Given the description of an element on the screen output the (x, y) to click on. 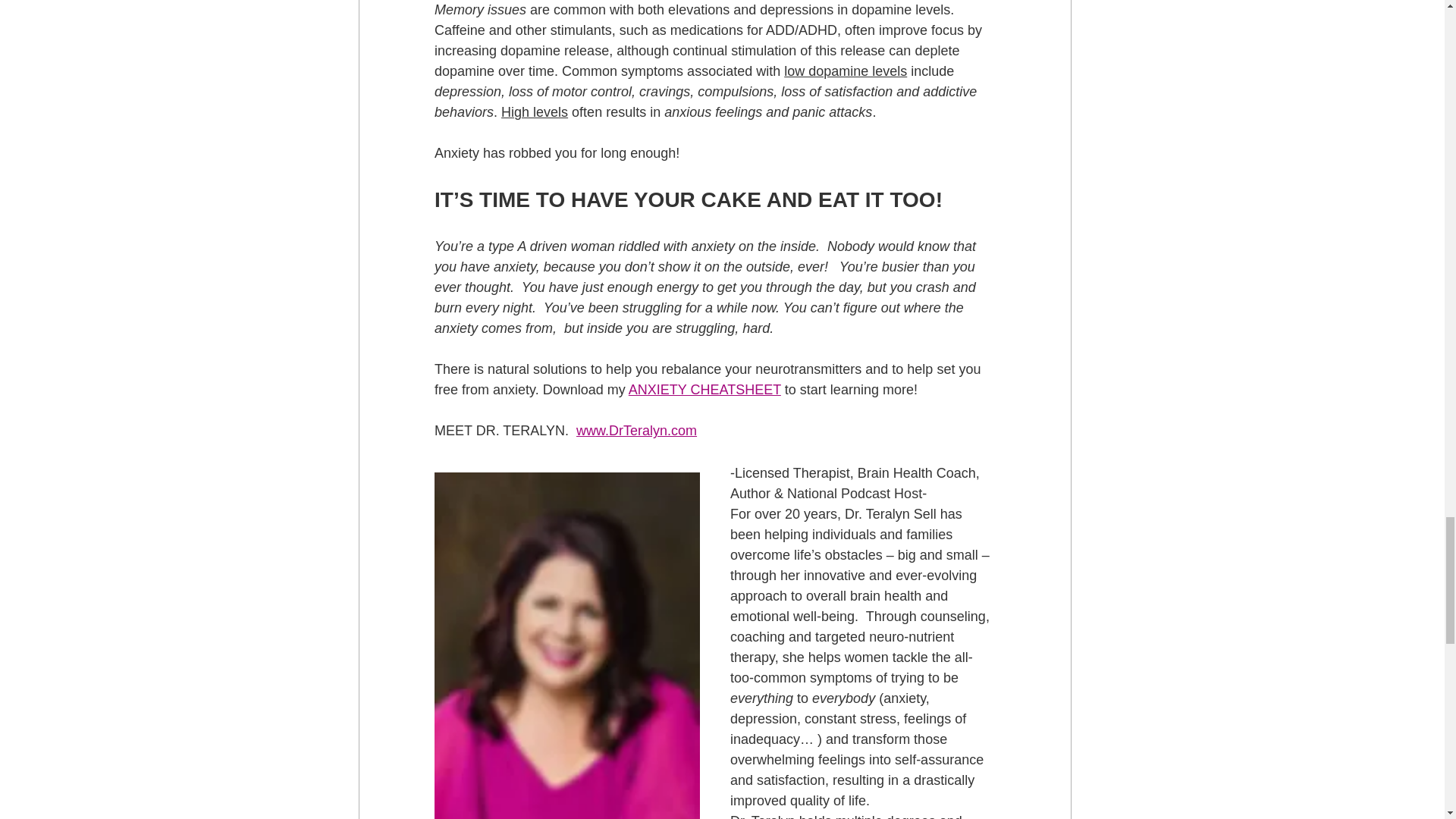
ANXIETY CHEATSHEET (703, 389)
www.DrTeralyn.com (636, 430)
